Given the description of an element on the screen output the (x, y) to click on. 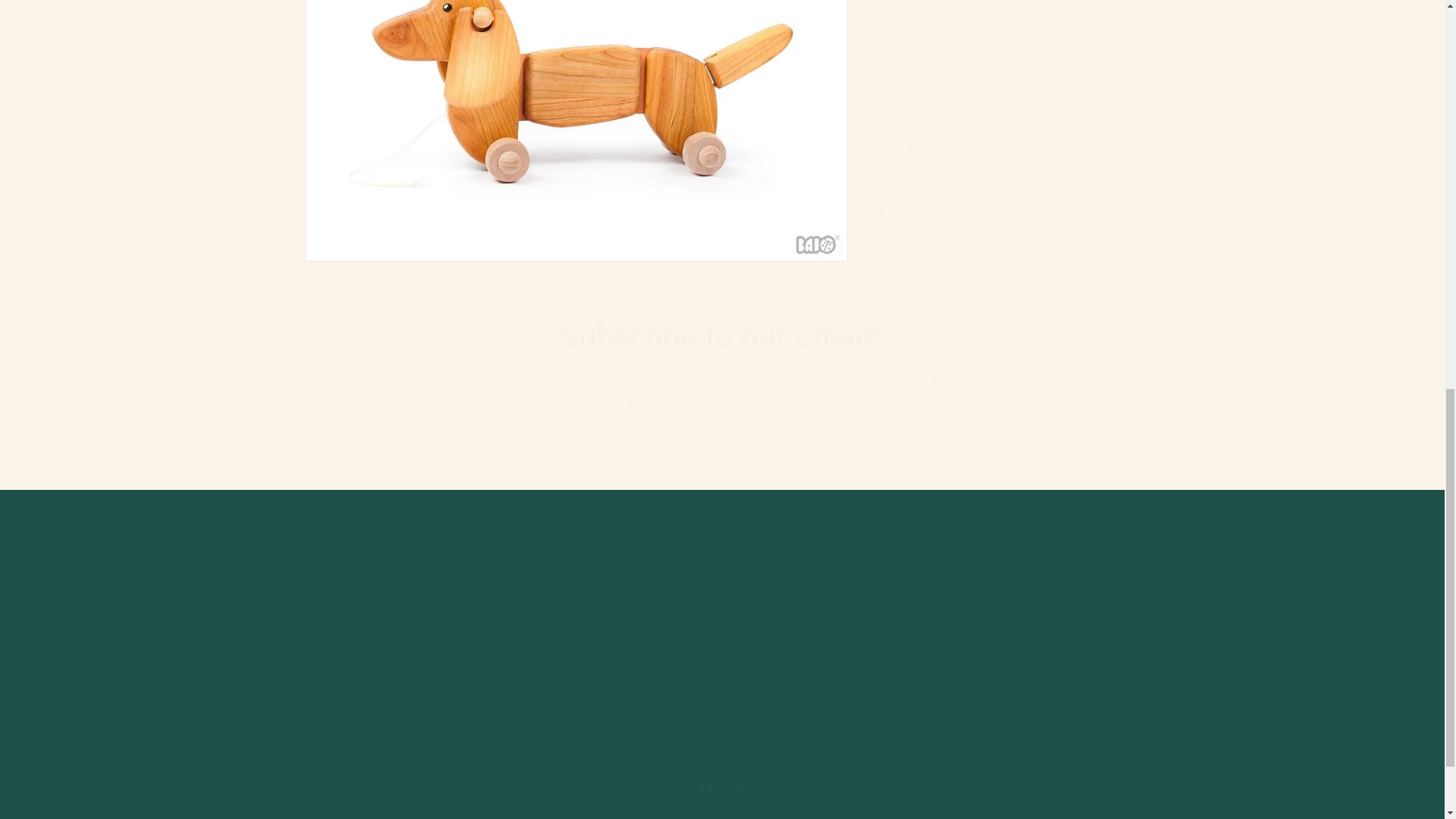
Email (722, 447)
Subscribe to our emails (721, 335)
